Given the description of an element on the screen output the (x, y) to click on. 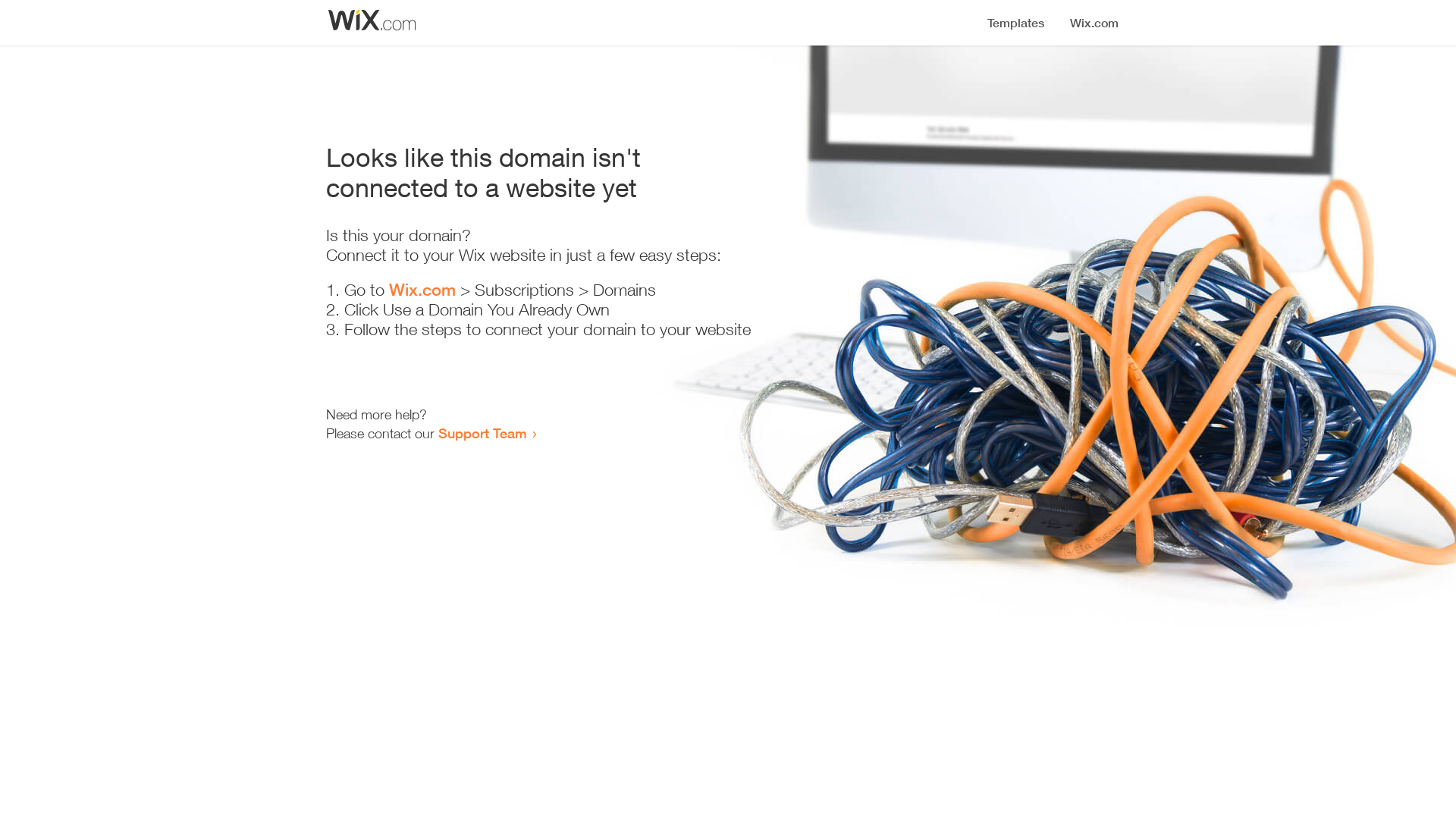
Wix.com Element type: text (422, 289)
Support Team Element type: text (482, 432)
